Given the description of an element on the screen output the (x, y) to click on. 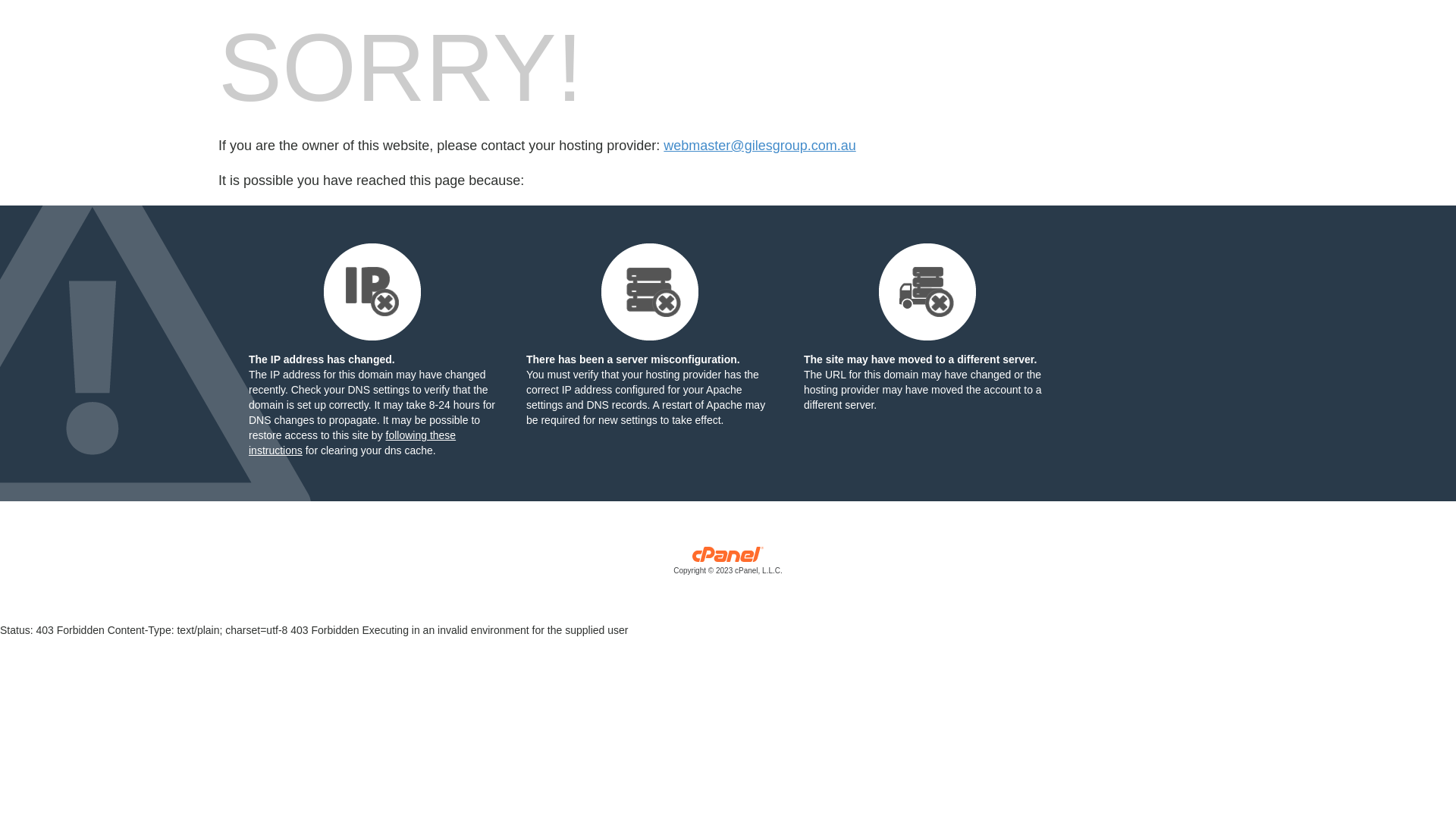
webmaster@gilesgroup.com.au Element type: text (759, 145)
following these instructions Element type: text (351, 442)
